Given the description of an element on the screen output the (x, y) to click on. 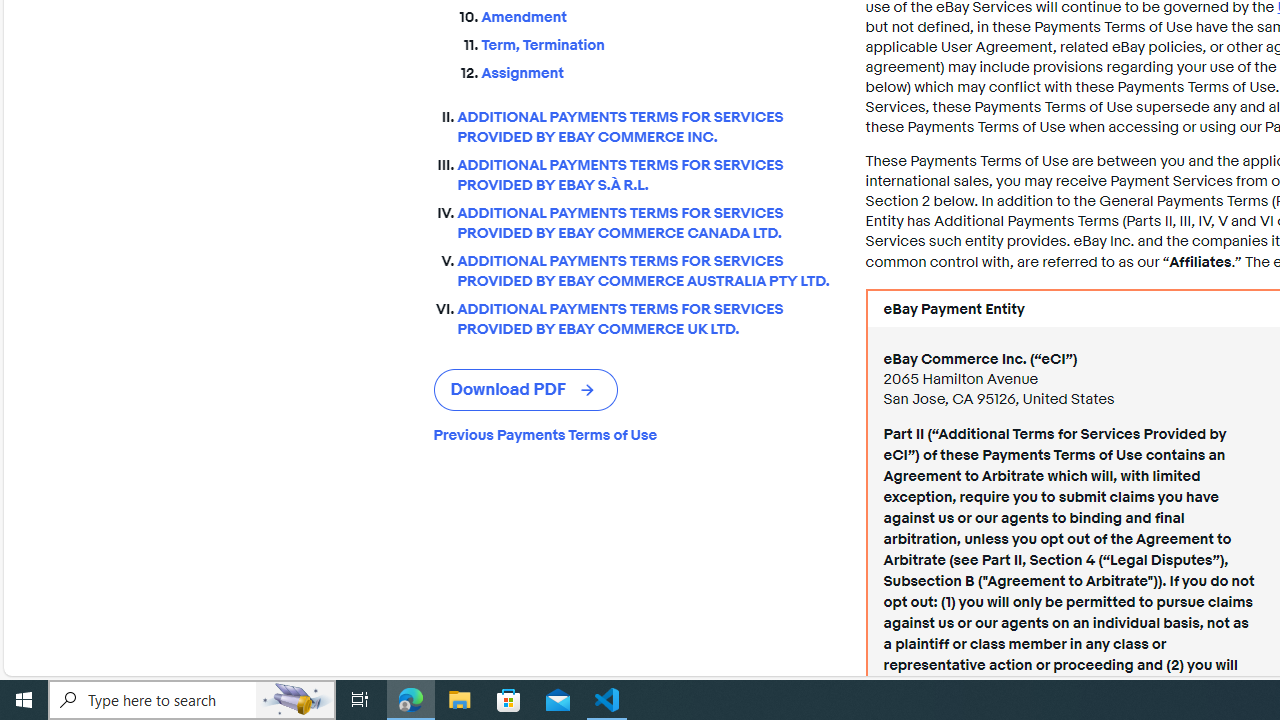
Term, Termination (657, 45)
Term, Termination (657, 41)
Assignment (657, 73)
Assignment (657, 69)
Previous Payments Terms of Use (633, 434)
Download PDF  (525, 389)
Amendment (657, 17)
Class: ski-btn__arrow (589, 390)
